Given the description of an element on the screen output the (x, y) to click on. 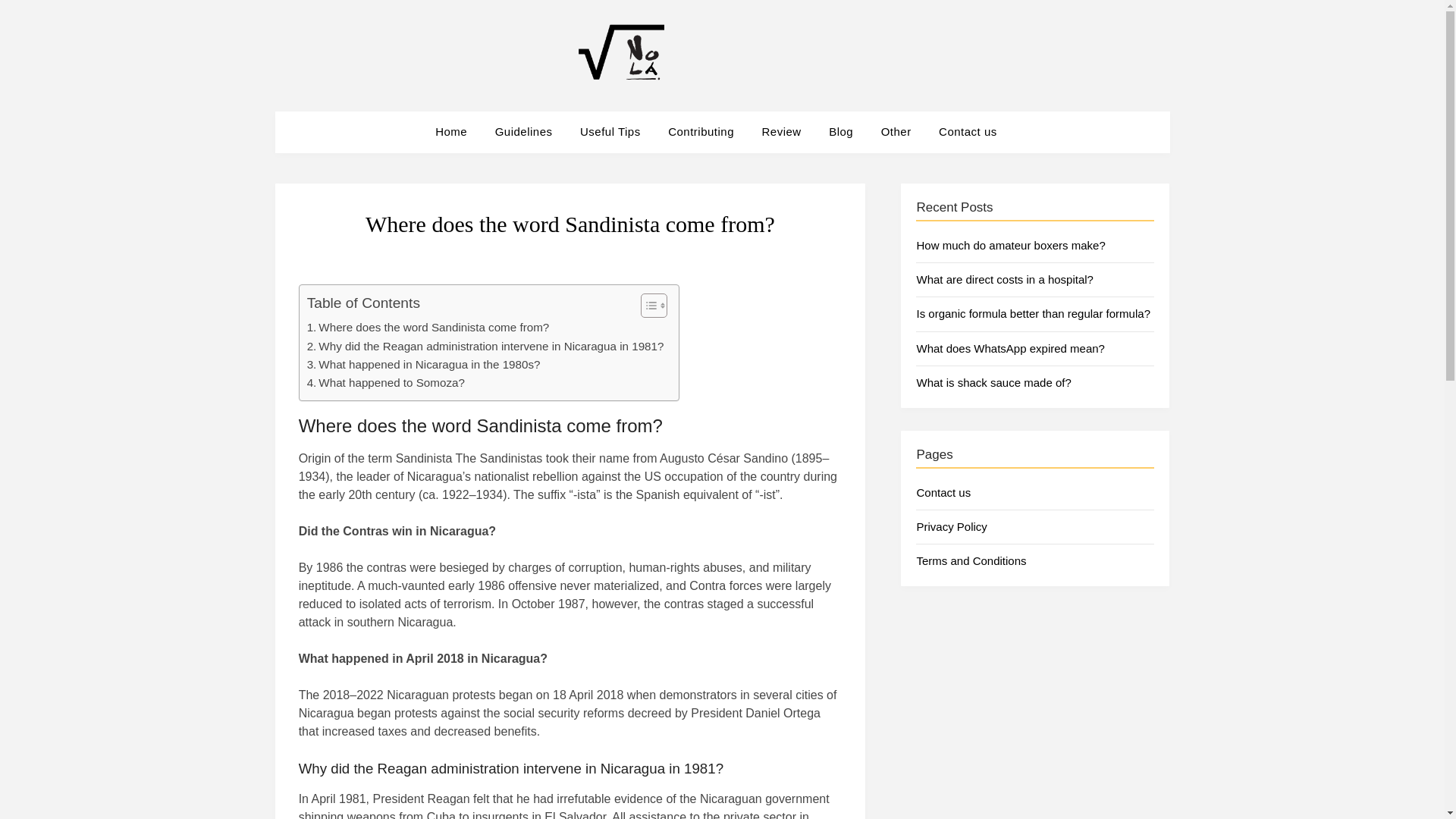
Guidelines (523, 131)
Where does the word Sandinista come from? (428, 327)
What happened to Somoza? (385, 382)
What is shack sauce made of? (992, 382)
Home (457, 131)
Is organic formula better than regular formula? (1032, 313)
What happened in Nicaragua in the 1980s? (423, 364)
Other (896, 131)
Blog (840, 131)
